Given the description of an element on the screen output the (x, y) to click on. 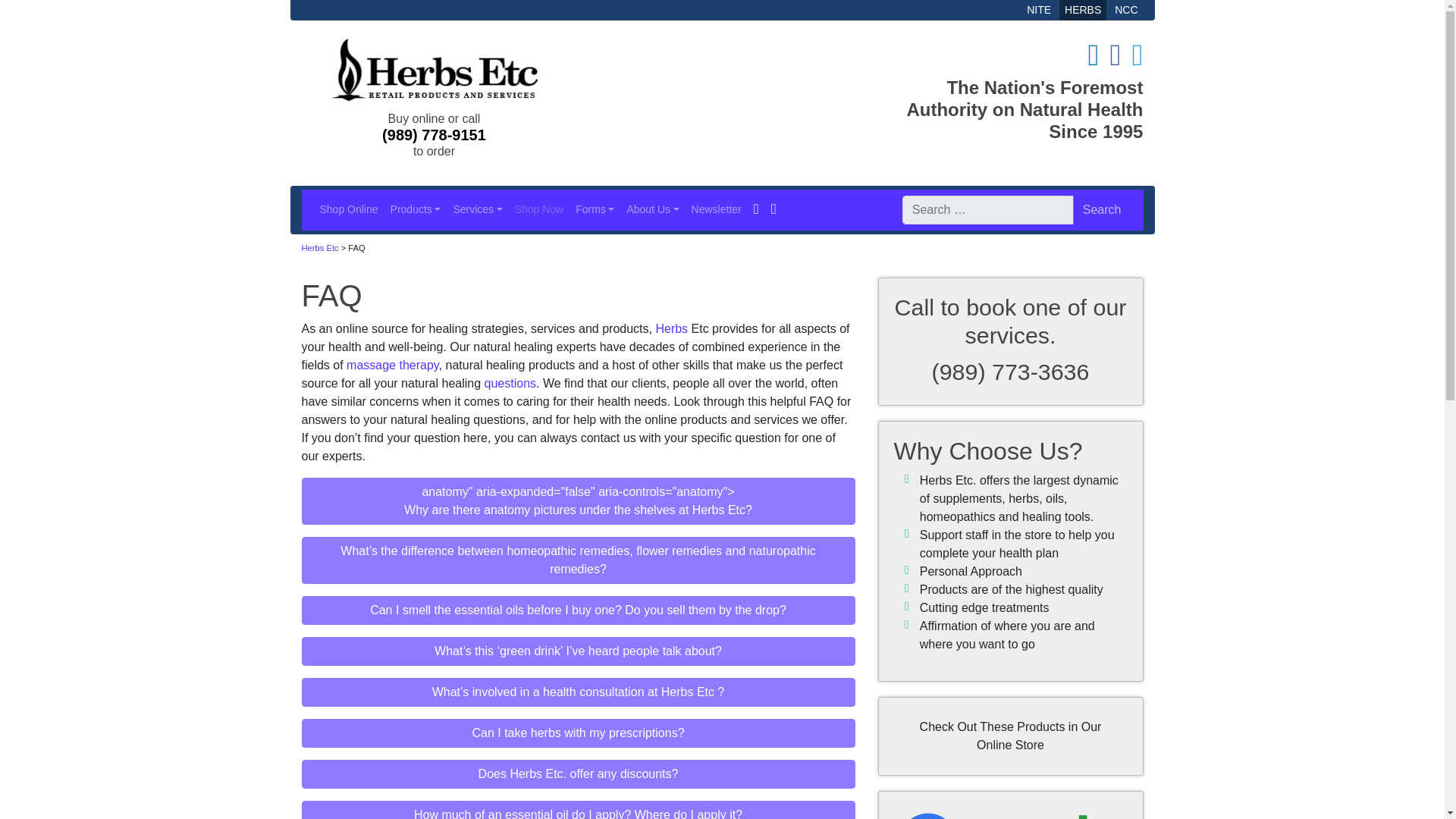
About Us (652, 209)
Products (415, 209)
Forms (594, 209)
NITE (1039, 9)
Search (1102, 209)
NCC (1125, 9)
Products (415, 209)
Shop Online (349, 209)
Shop Online (349, 209)
Services (477, 209)
Services (477, 209)
Shop Now (539, 209)
Newsletter (716, 209)
